Given the description of an element on the screen output the (x, y) to click on. 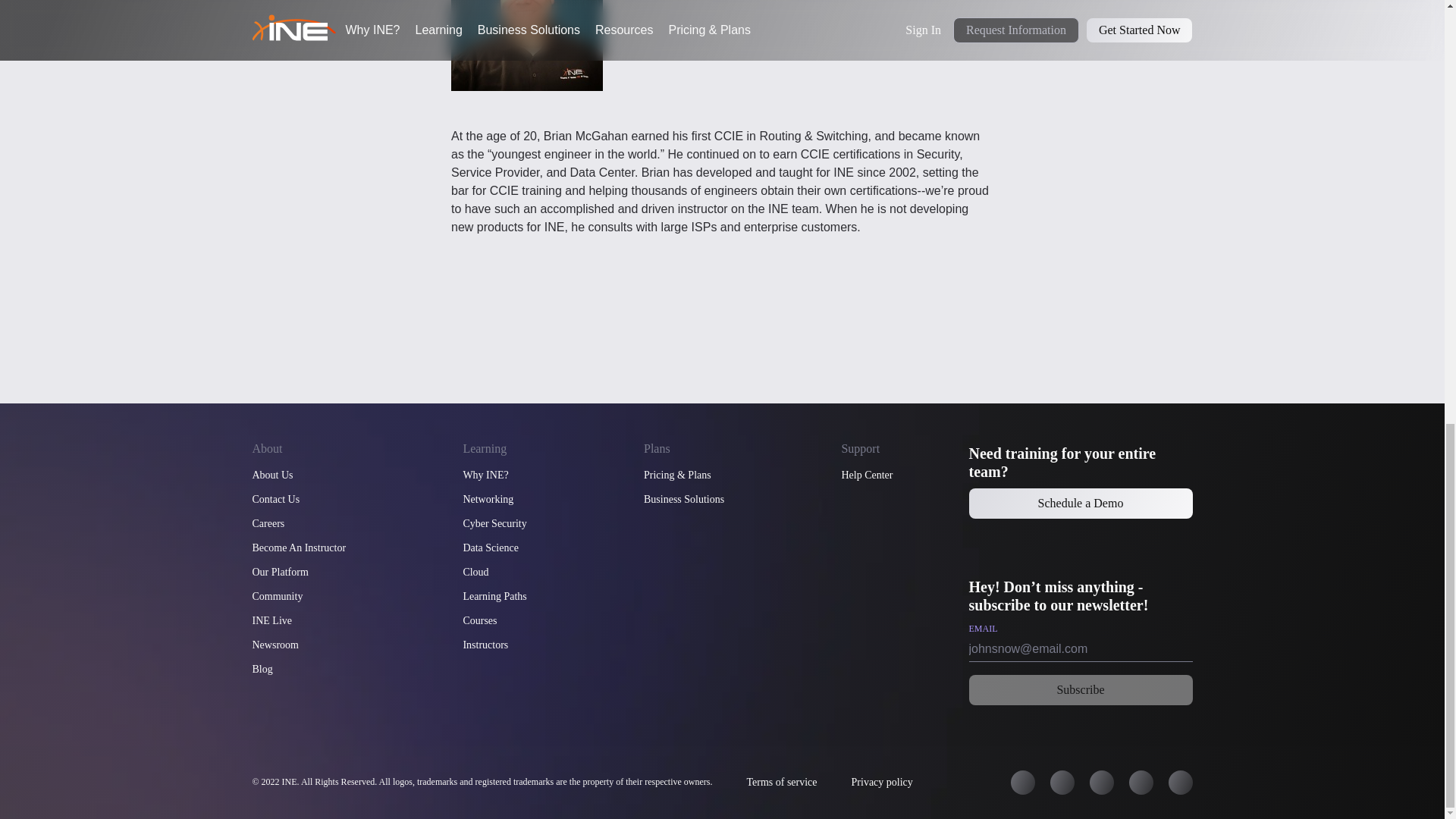
Become An Instructor (298, 547)
Community (276, 595)
Subscribe (1080, 689)
Careers (267, 523)
Schedule a Demo (1080, 503)
